Given the description of an element on the screen output the (x, y) to click on. 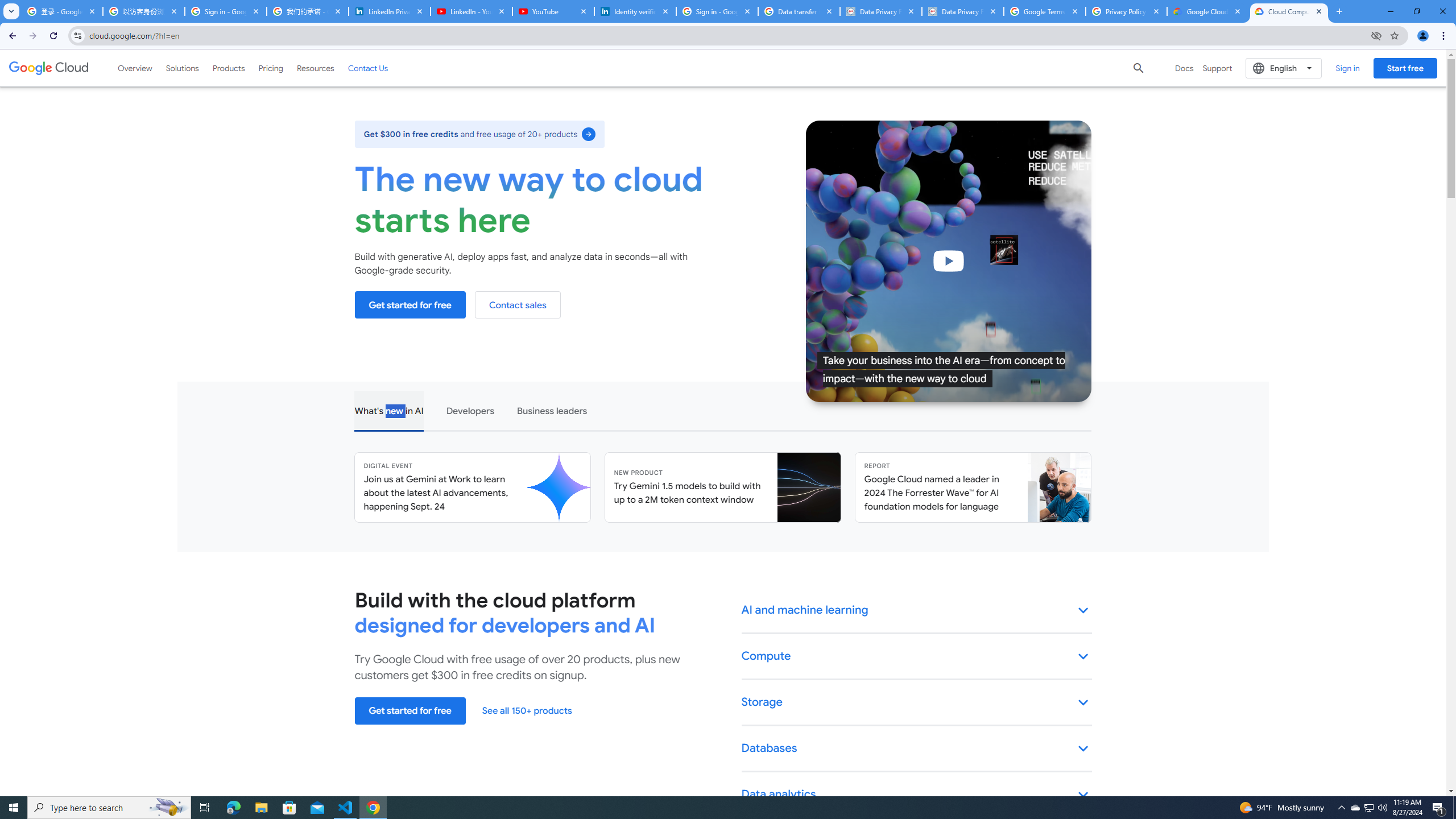
Support (1216, 67)
Docs (1183, 67)
